Given the description of an element on the screen output the (x, y) to click on. 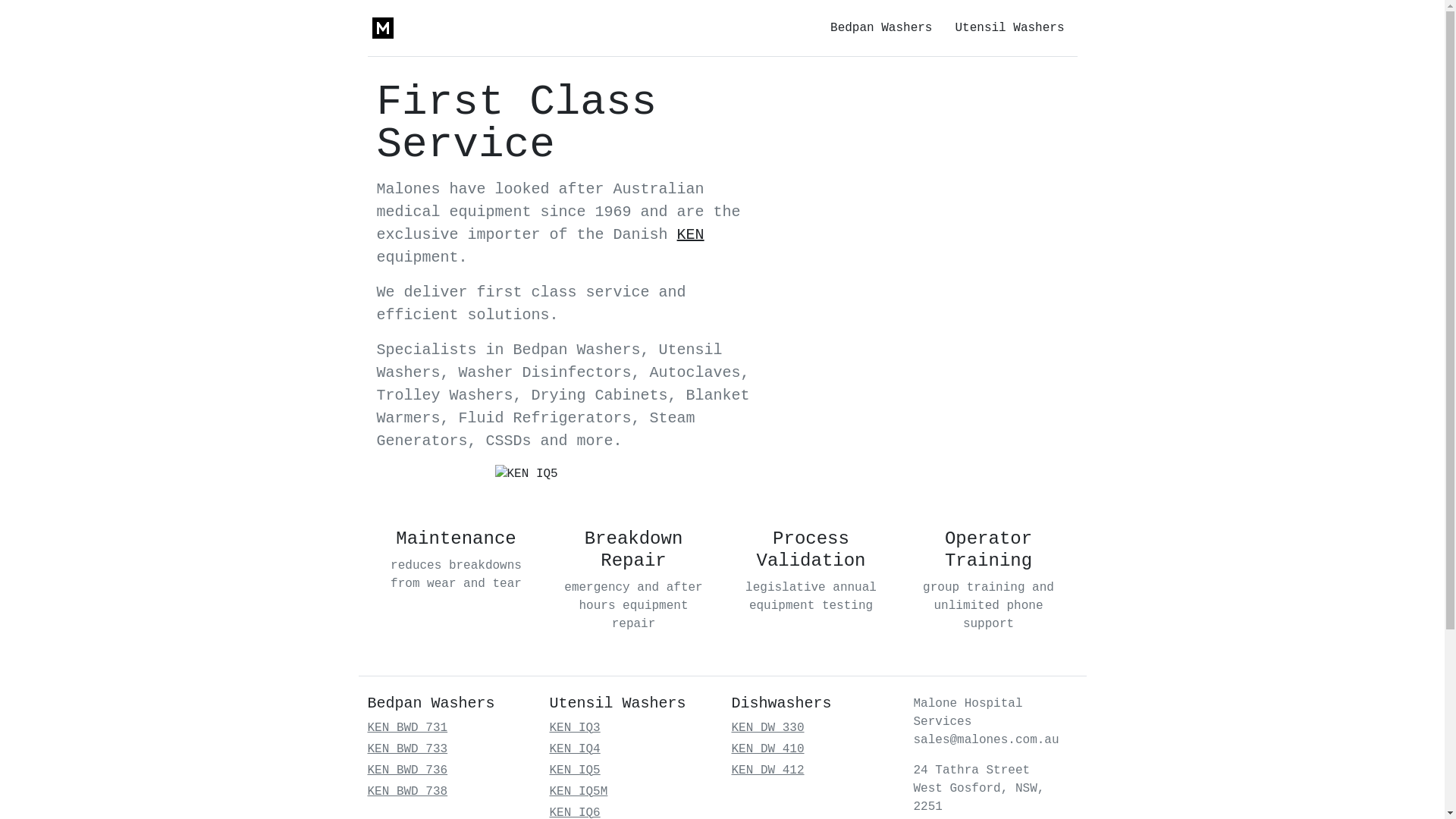
KEN Element type: text (690, 234)
Utensil Washers Element type: text (1008, 27)
Bedpan Washers Element type: text (880, 27)
